Given the description of an element on the screen output the (x, y) to click on. 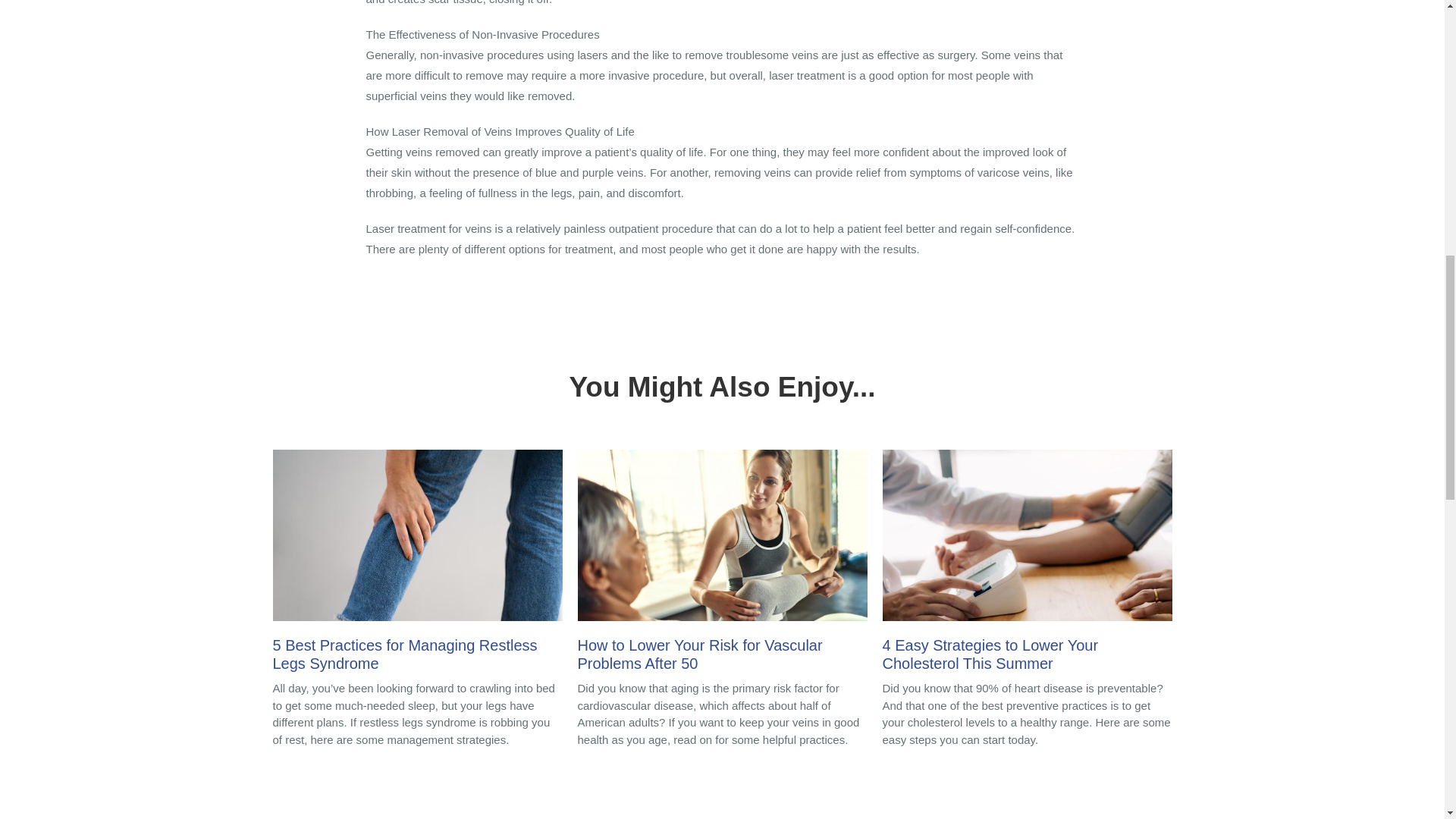
How to Lower Your Risk for Vascular Problems After 50 (722, 564)
4 Easy Strategies to Lower Your Cholesterol This Summer (1027, 564)
5 Best Practices for Managing Restless Legs Syndrome (417, 564)
